Given the description of an element on the screen output the (x, y) to click on. 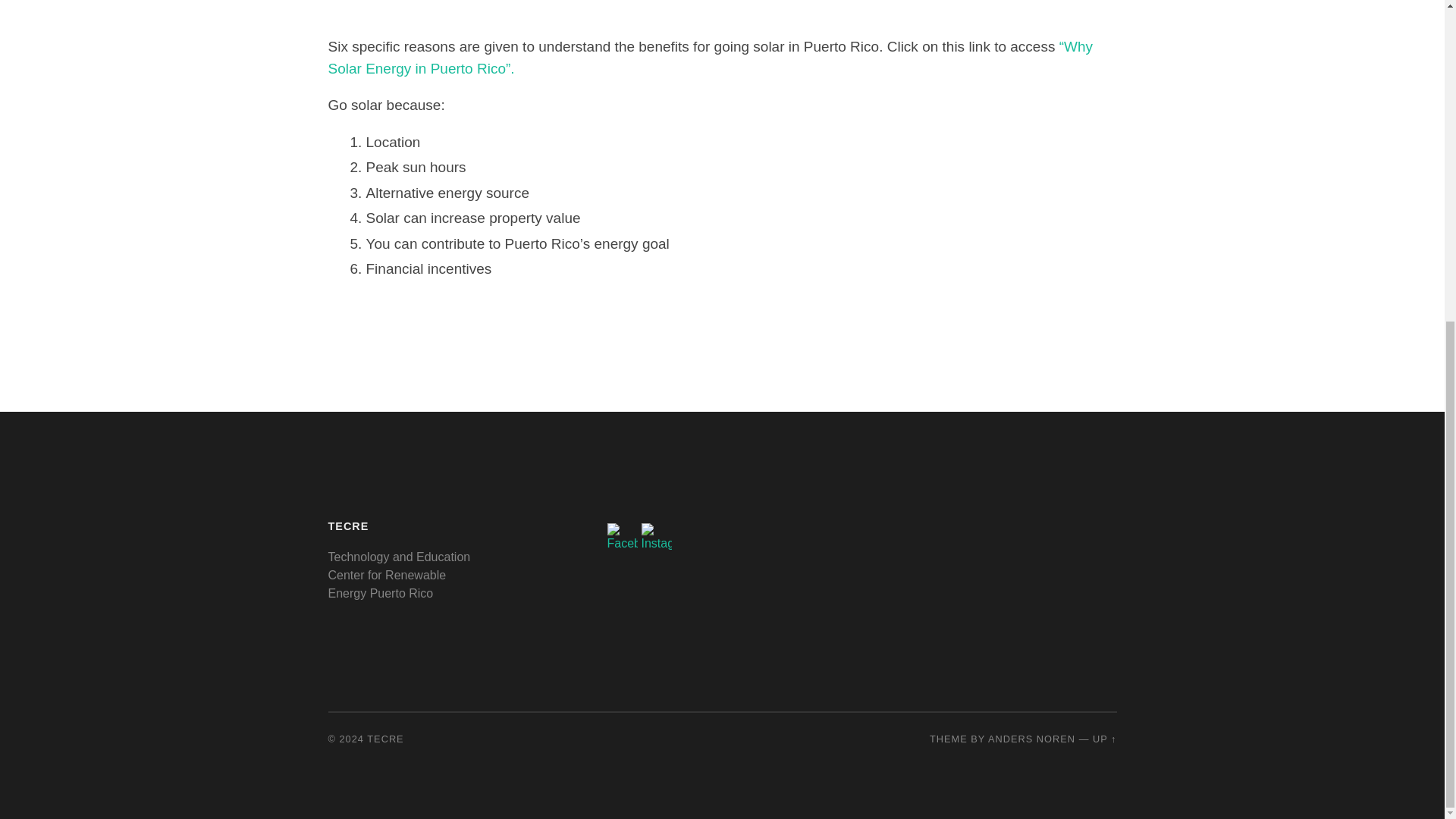
Instagram (656, 537)
Facebook (622, 537)
French (1083, 525)
German (1096, 525)
Spanish (1109, 525)
English (1068, 525)
To the top (1104, 738)
